Given the description of an element on the screen output the (x, y) to click on. 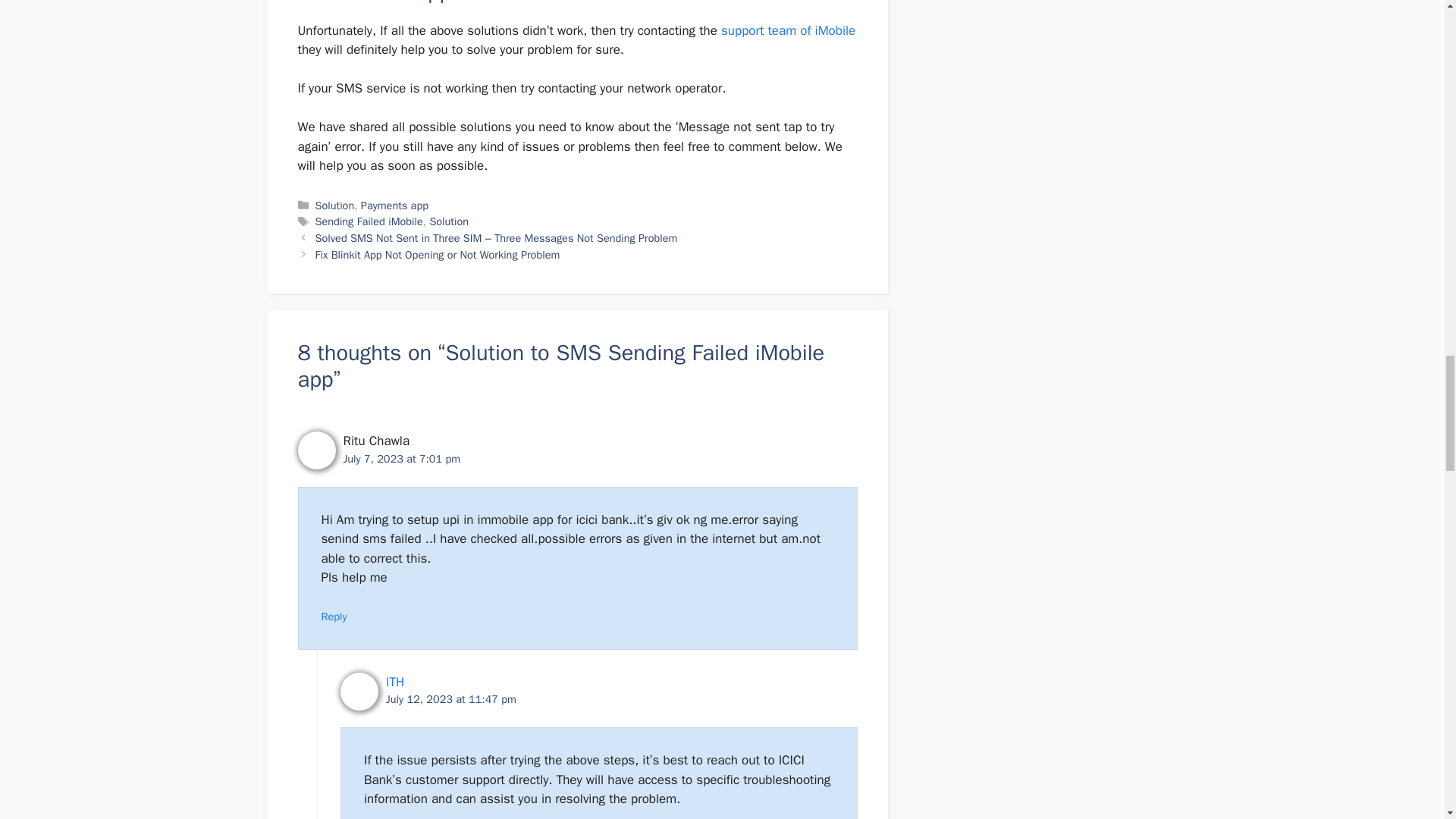
Payments app (394, 205)
Sending Failed iMobile (369, 221)
support team of iMobile (788, 30)
Reply (334, 616)
Solution (448, 221)
July 7, 2023 at 7:01 pm (401, 459)
Fix Blinkit App Not Opening or Not Working Problem (437, 254)
ITH (394, 682)
July 12, 2023 at 11:47 pm (450, 698)
Solution (335, 205)
